Given the description of an element on the screen output the (x, y) to click on. 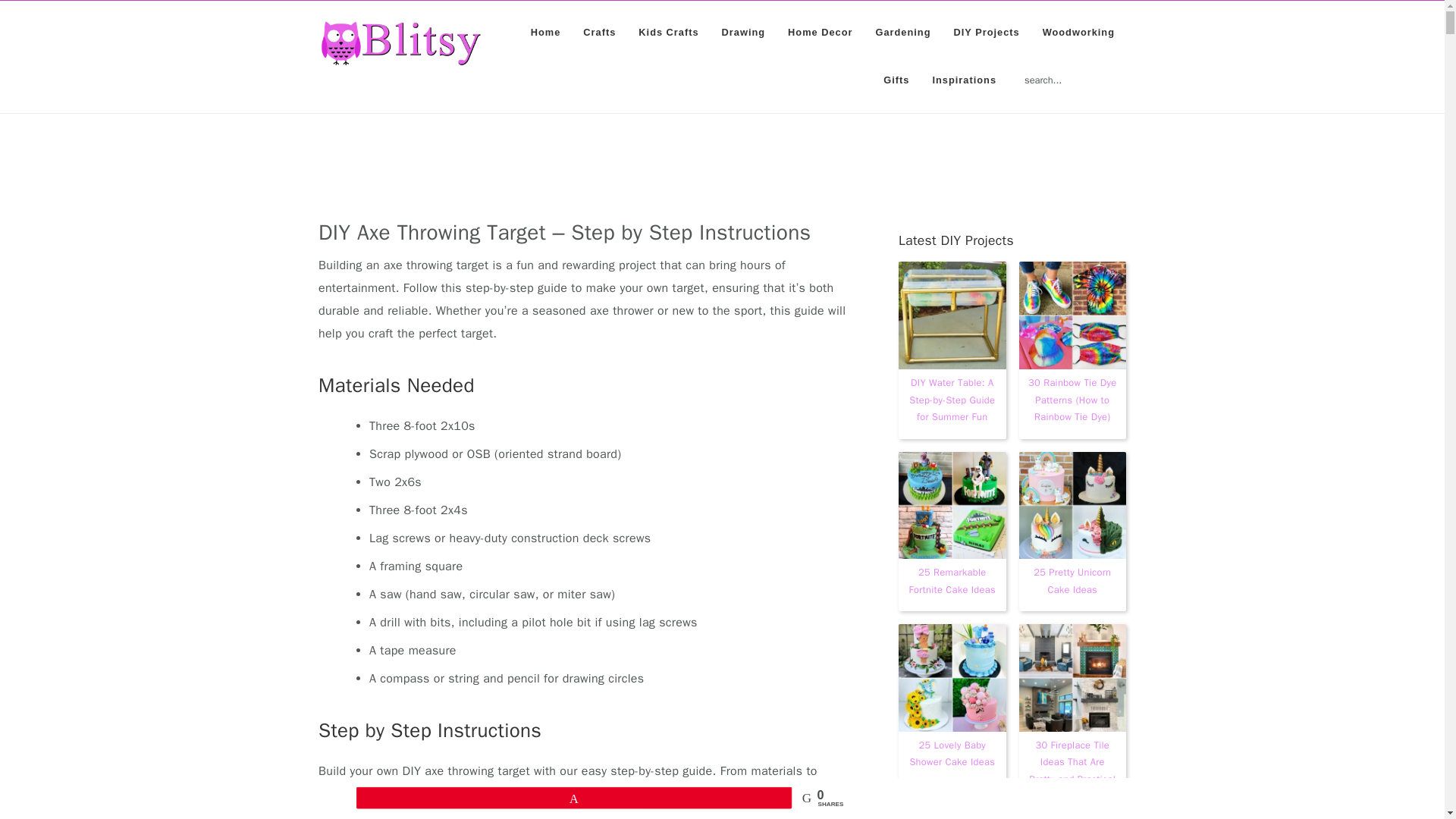
Home Decor (819, 32)
Drawing (743, 32)
Kids Crafts (668, 32)
Search (1128, 71)
Inspirations (963, 80)
DIY Projects (986, 32)
Search (1128, 71)
Home (545, 32)
Crafts (599, 32)
Blitsy (399, 57)
Search (1128, 71)
Gifts (896, 80)
Blitsy (399, 43)
Woodworking (1077, 32)
